Given the description of an element on the screen output the (x, y) to click on. 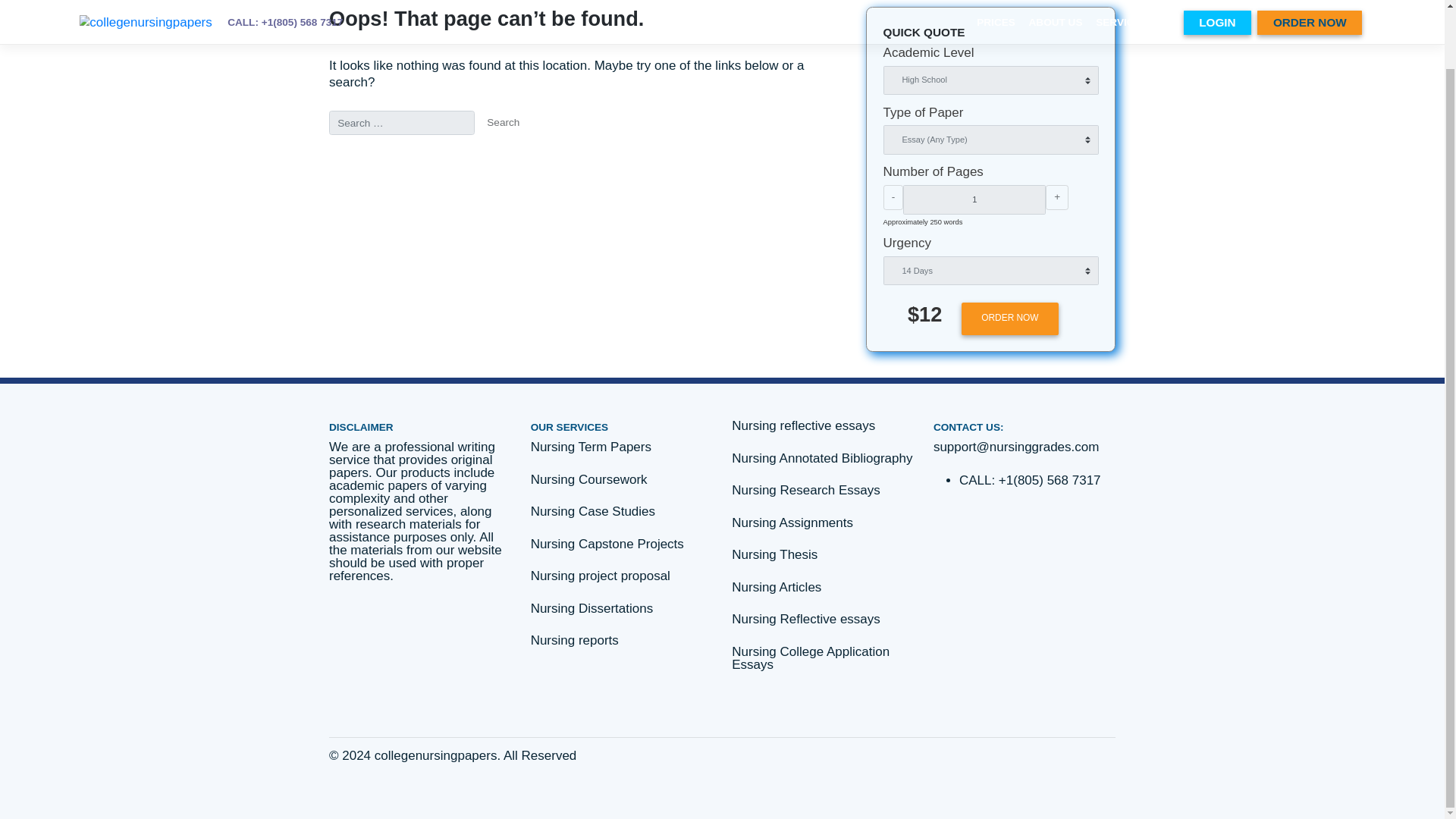
ORDER NOW (1188, 385)
Search for: (473, 154)
Search (591, 154)
1 (1146, 245)
Search (591, 154)
- (1050, 243)
Search (591, 154)
